Given the description of an element on the screen output the (x, y) to click on. 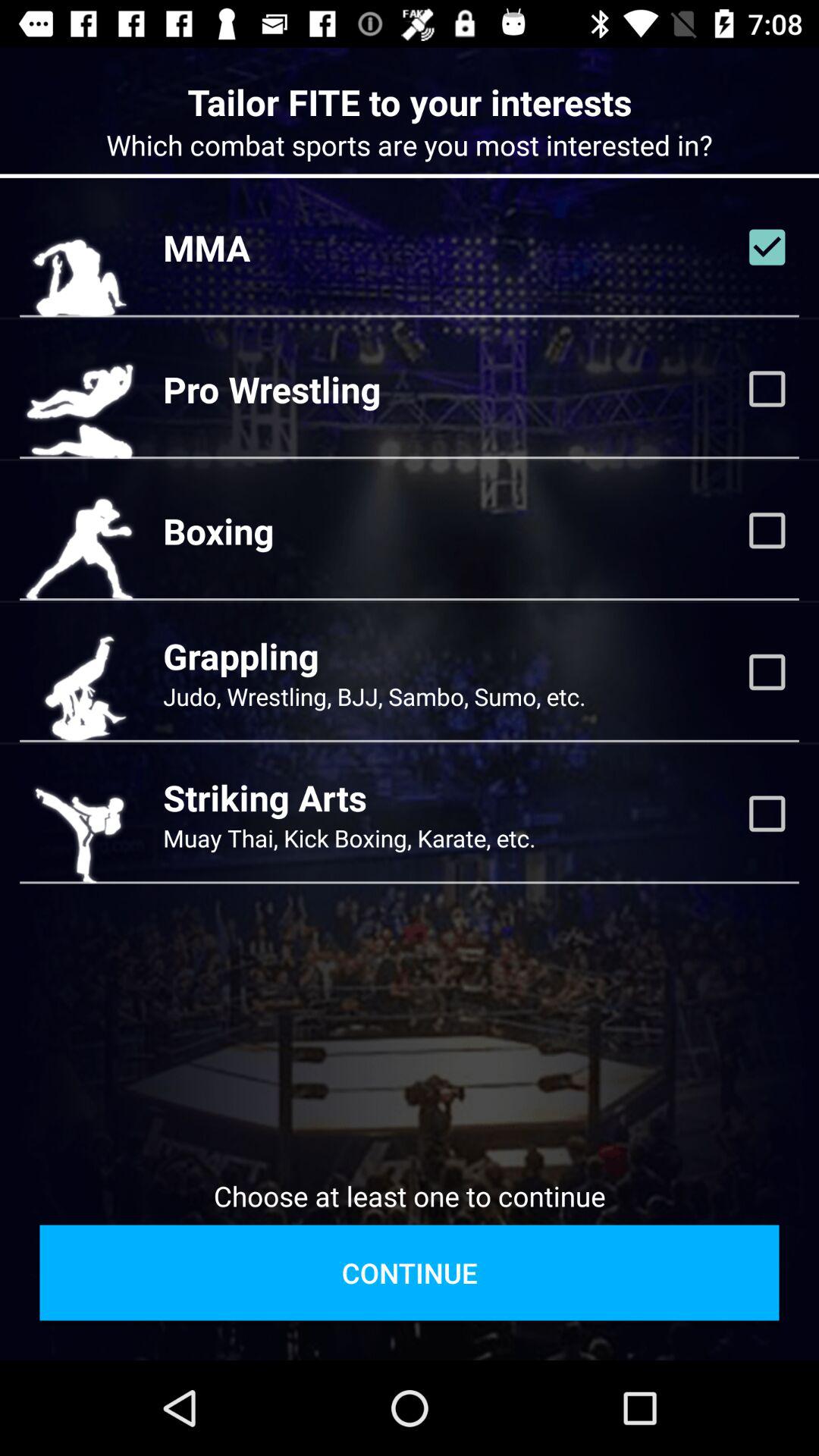
select mma (767, 247)
